Given the description of an element on the screen output the (x, y) to click on. 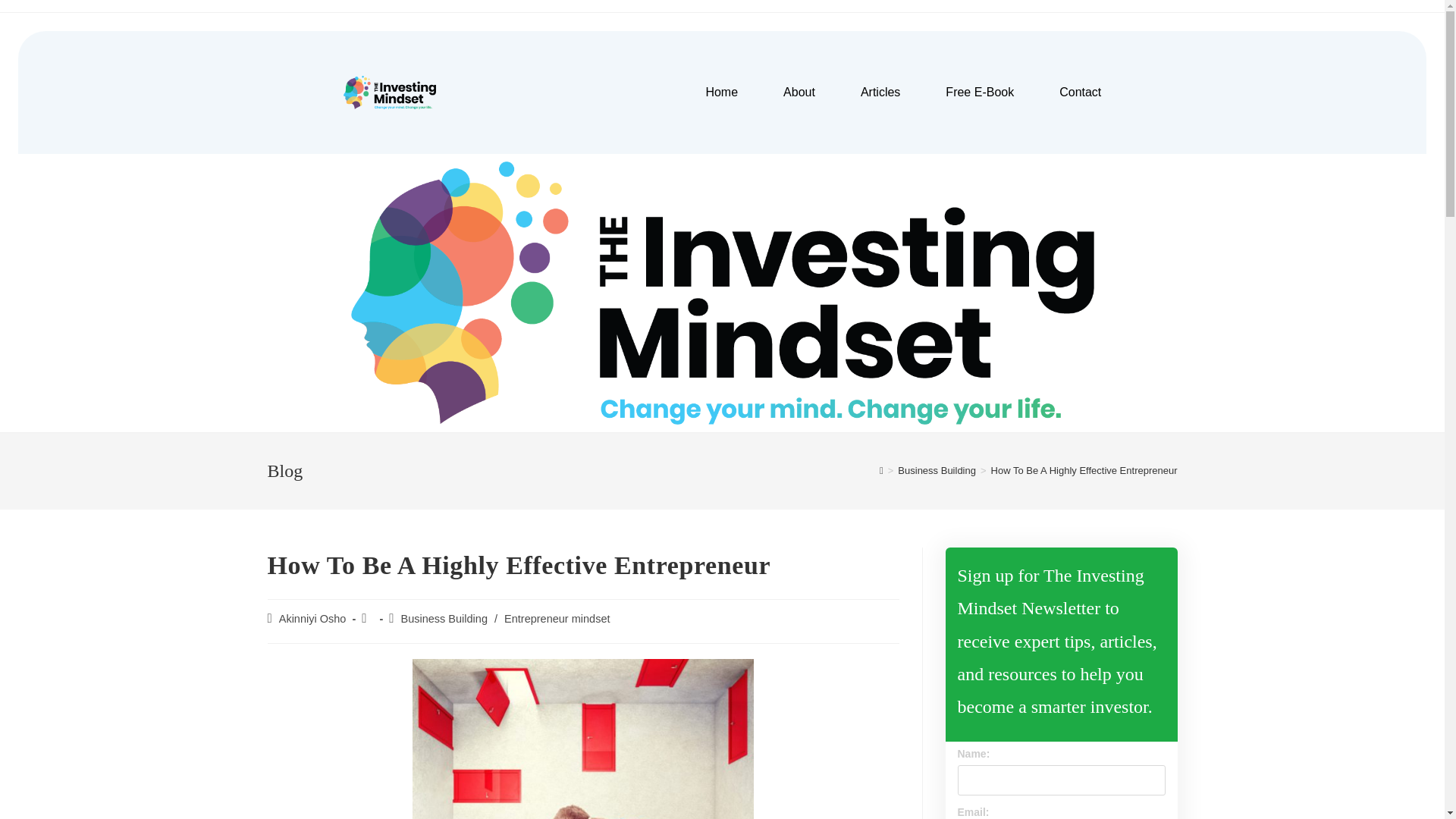
Akinniyi Osho (312, 618)
About (799, 92)
Free E-Book (978, 92)
How To Be A Highly Effective Entrepreneur (1084, 470)
Articles (879, 92)
Home (721, 92)
Business Building (936, 470)
Contact (1079, 92)
Posts by Akinniyi Osho (312, 618)
Entrepreneur mindset (556, 618)
Business Building (443, 618)
